Given the description of an element on the screen output the (x, y) to click on. 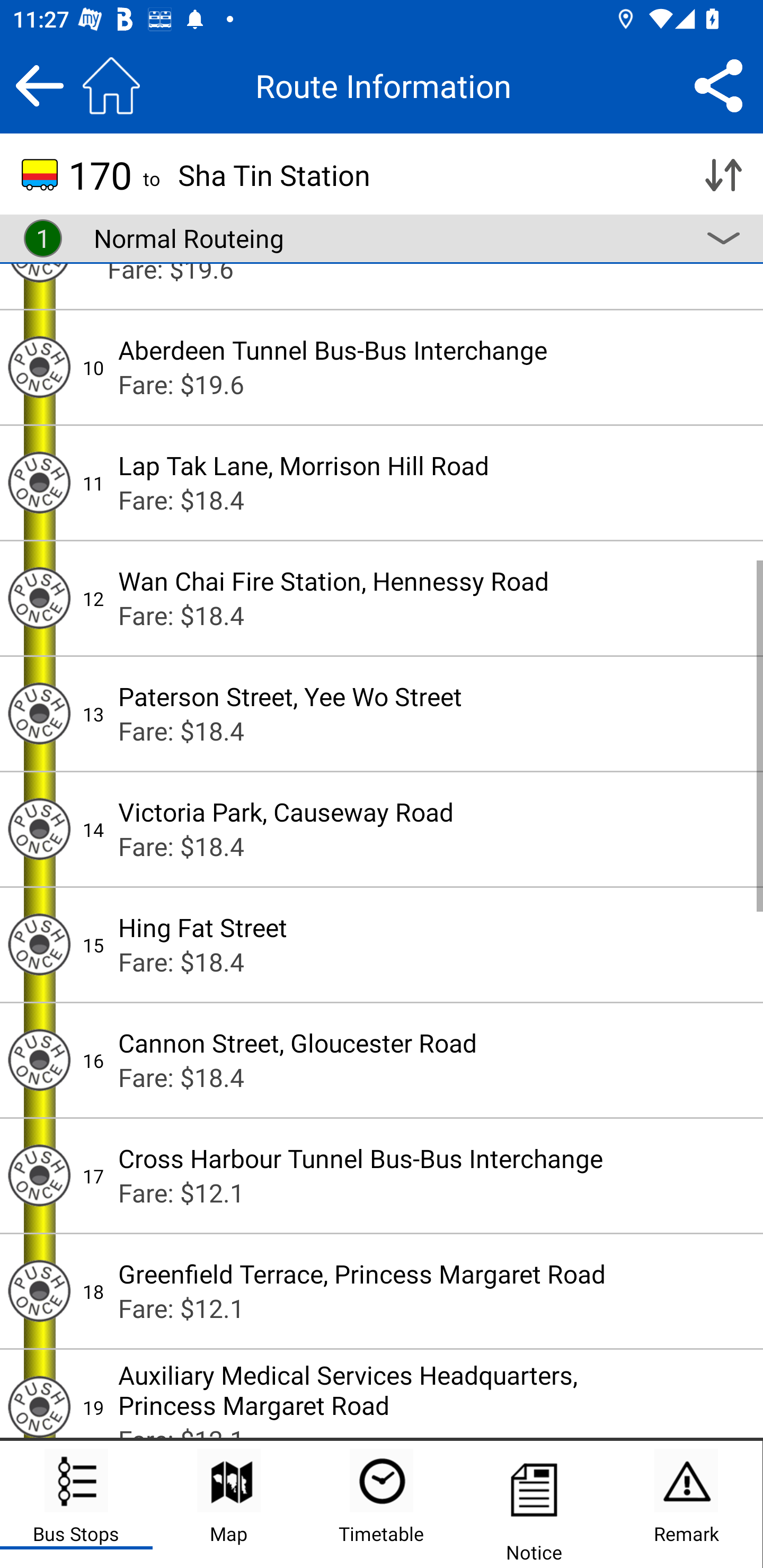
Jump to home page (111, 85)
Share point to point route search criteria) (718, 85)
Back (39, 85)
Reverse direction (723, 174)
Other routes (723, 238)
Alight Reminder (39, 366)
Alight Reminder (39, 482)
Alight Reminder (39, 598)
Alight Reminder (39, 713)
Alight Reminder (39, 828)
Alight Reminder (39, 944)
Alight Reminder (39, 1059)
Alight Reminder (39, 1175)
Alight Reminder (39, 1291)
Alight Reminder (39, 1402)
Bus Stops (76, 1504)
Map (228, 1504)
Timetable (381, 1504)
Notice (533, 1504)
Remark (686, 1504)
